Given the description of an element on the screen output the (x, y) to click on. 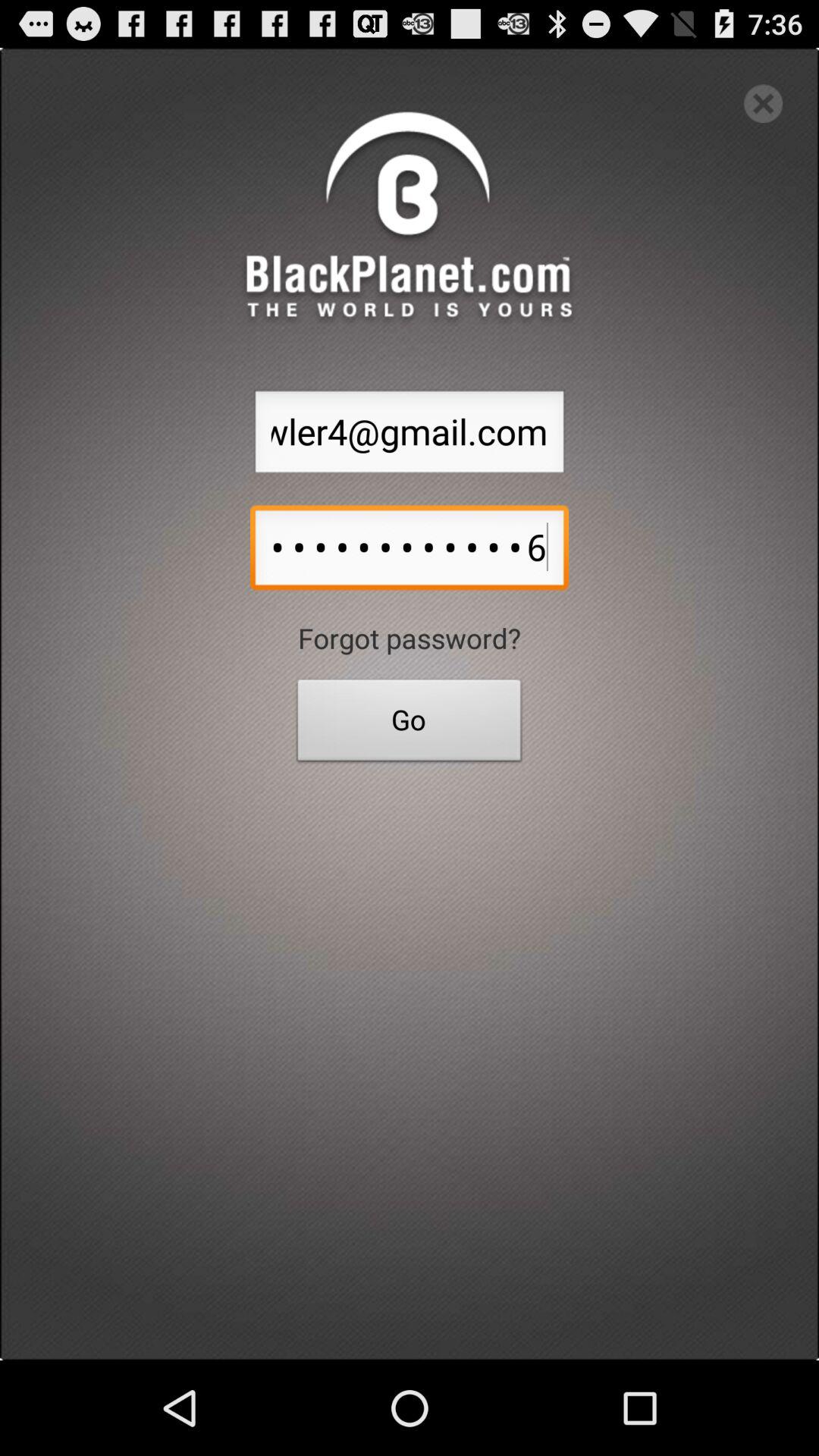
close (763, 103)
